Given the description of an element on the screen output the (x, y) to click on. 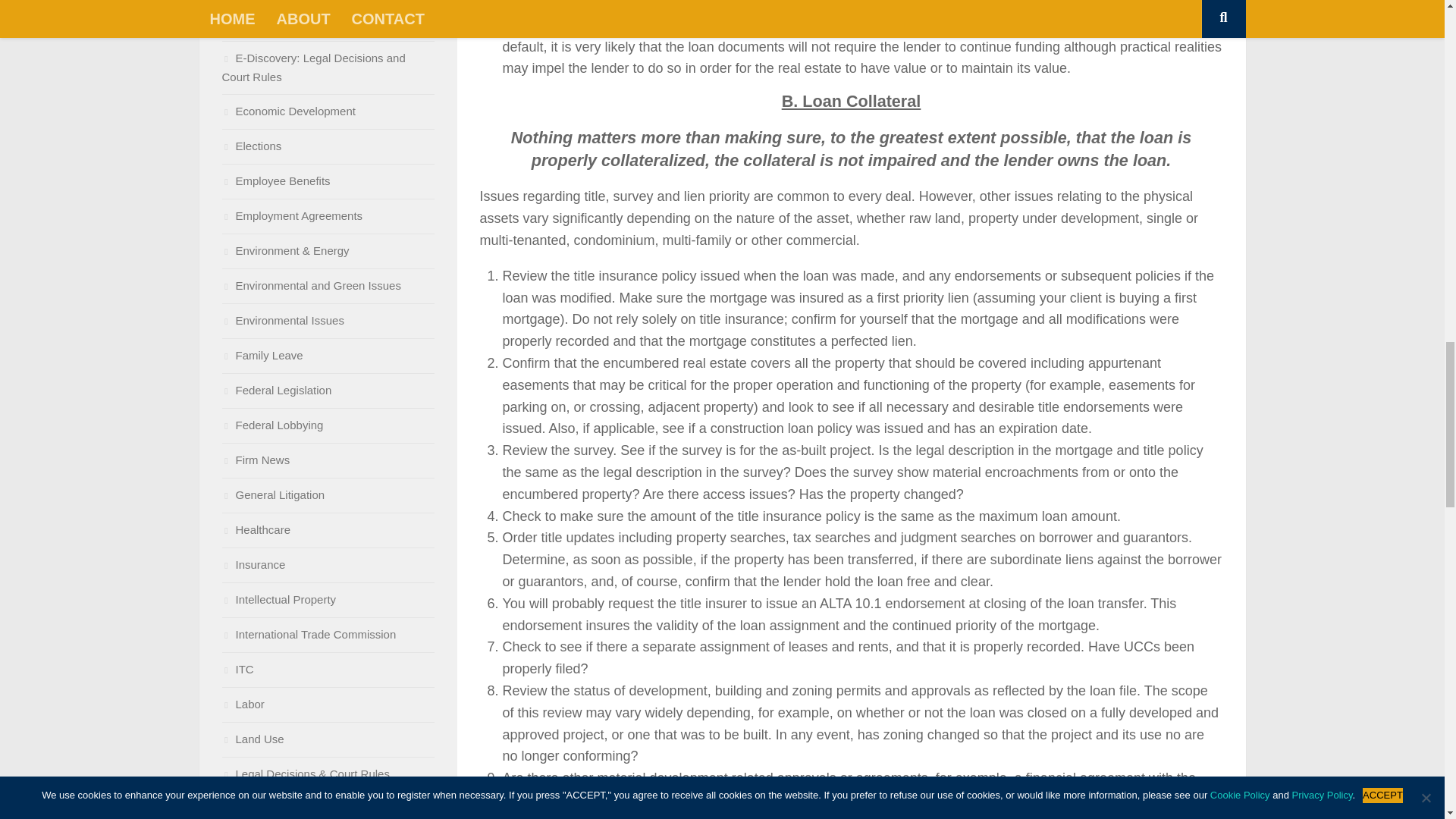
payment in lieu of taxes (1015, 799)
